Given the description of an element on the screen output the (x, y) to click on. 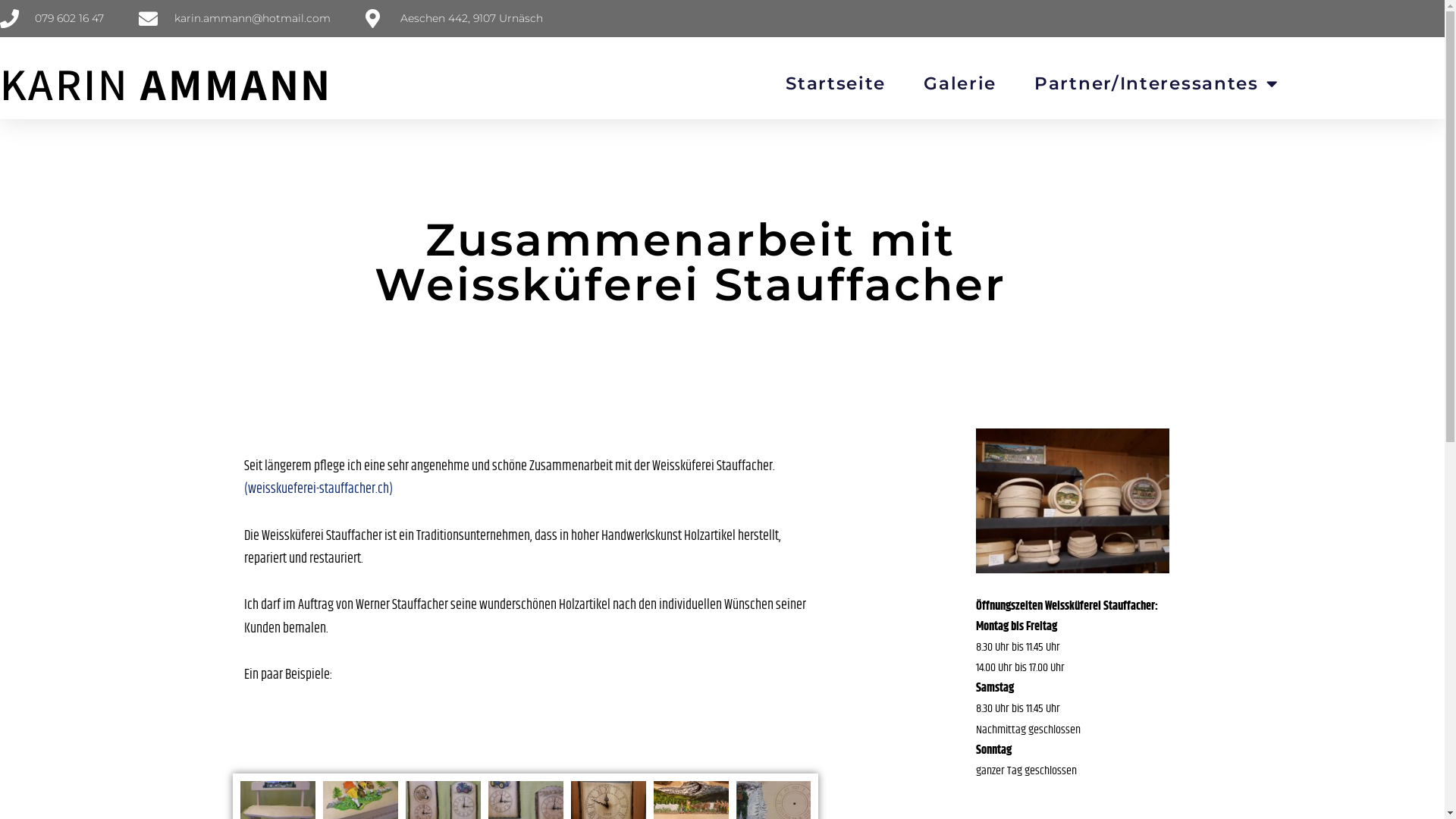
Partner/Interessantes Element type: text (1155, 83)
Startseite Element type: text (835, 83)
karin.ammann@hotmail.com Element type: text (233, 18)
(weisskueferei-stauffacher.ch) Element type: text (318, 488)
Galerie Element type: text (959, 83)
